Given the description of an element on the screen output the (x, y) to click on. 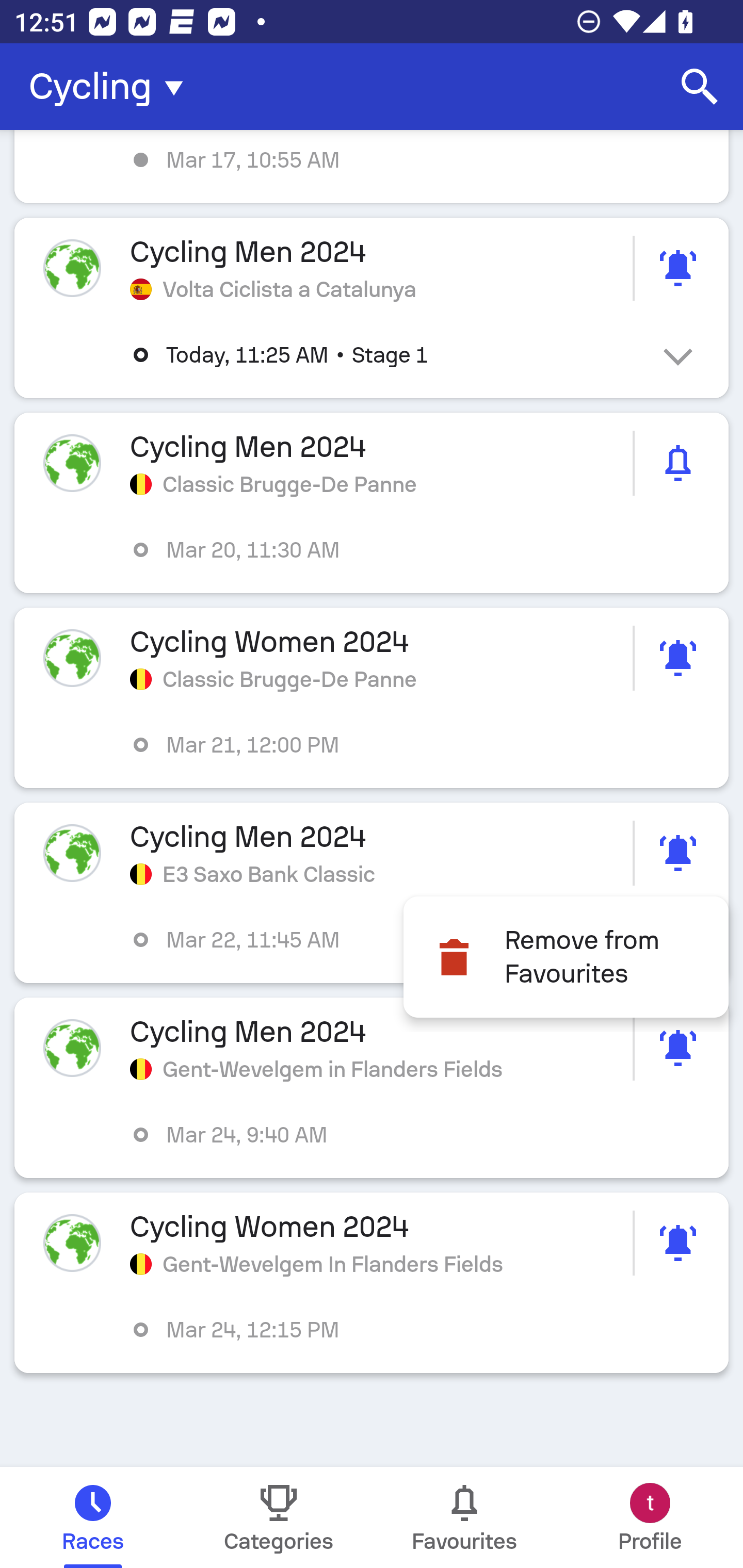
Remove from Favourites (565, 957)
